Given the description of an element on the screen output the (x, y) to click on. 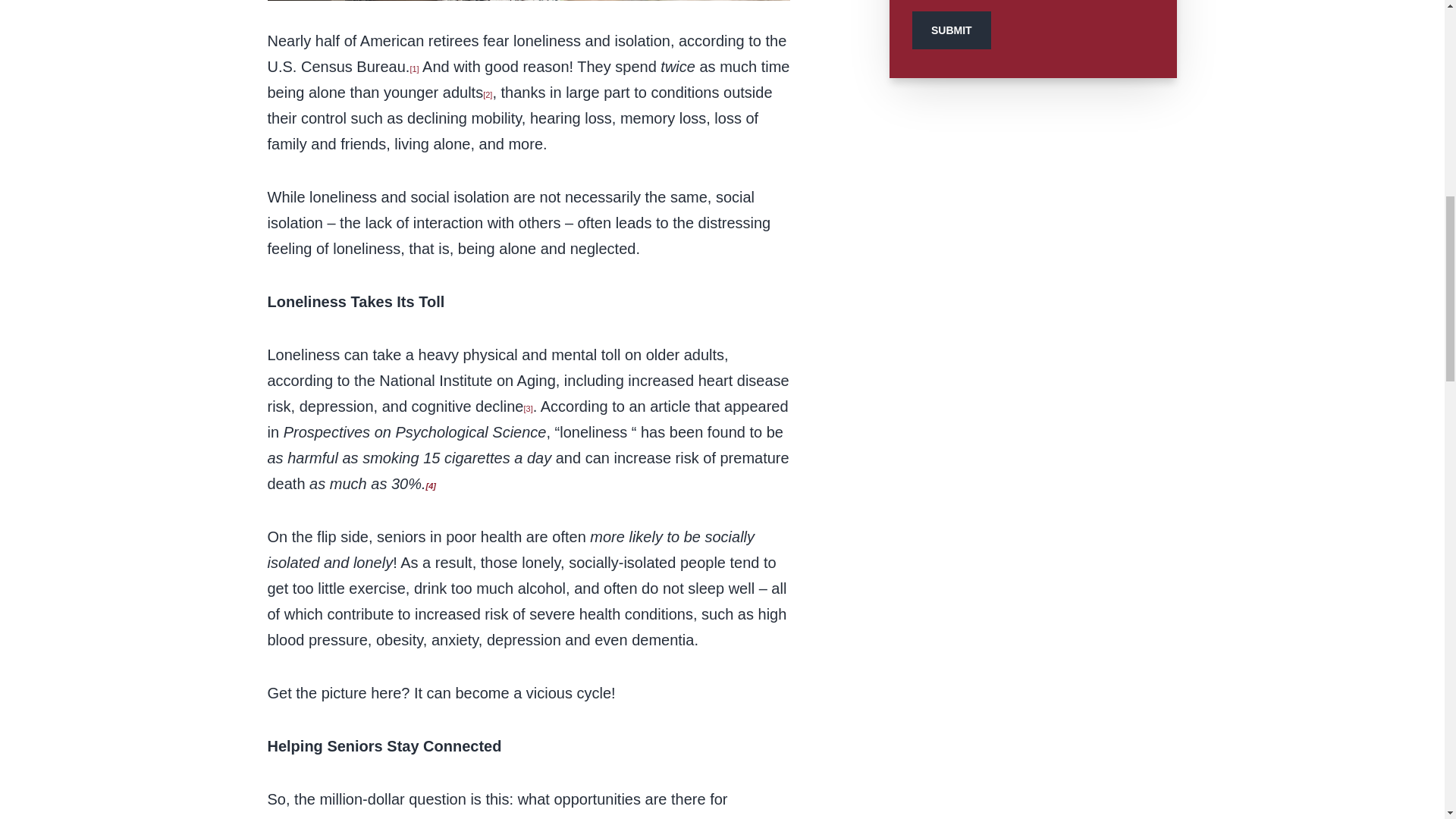
Submit (951, 30)
